Given the description of an element on the screen output the (x, y) to click on. 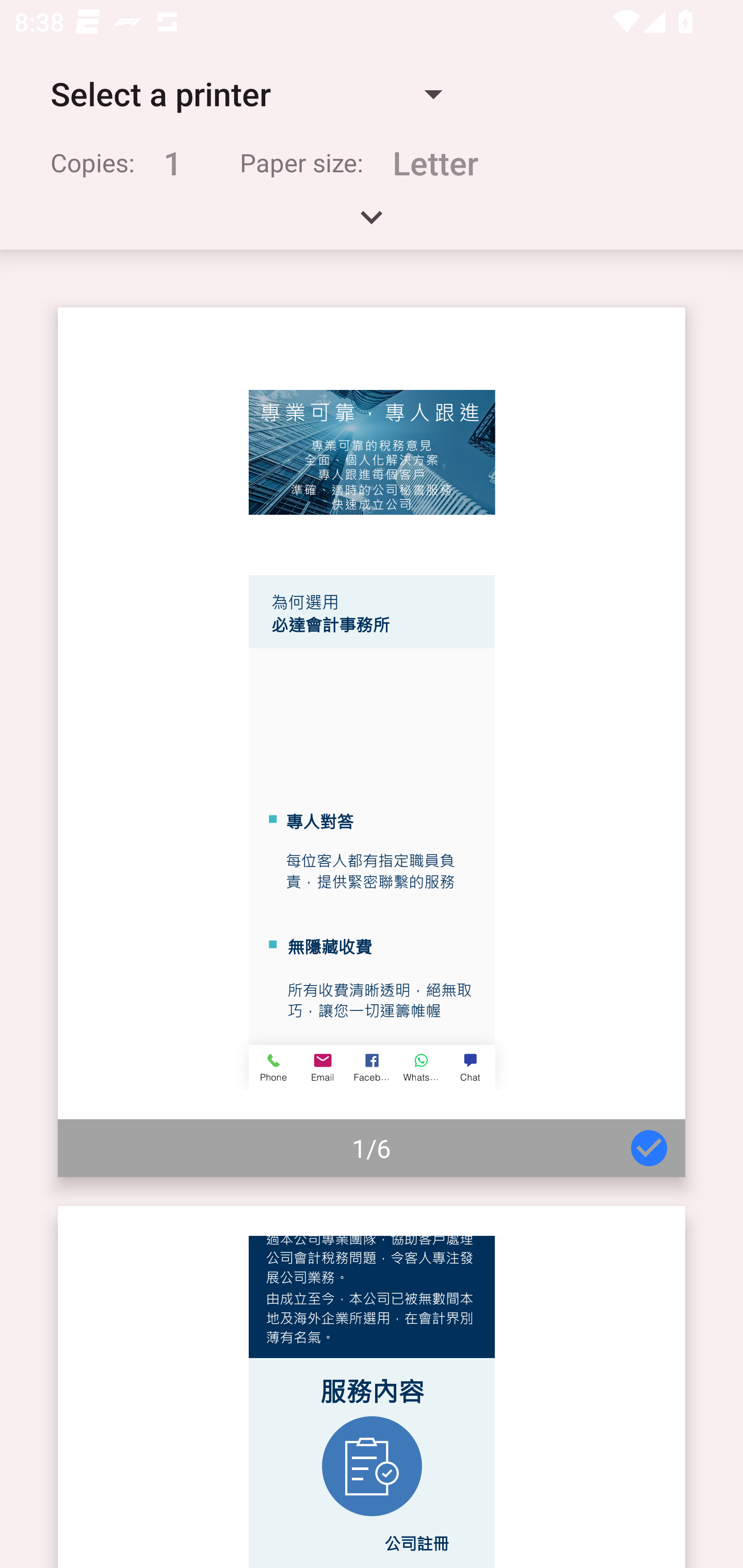
Select a printer (245, 93)
Expand handle (371, 224)
Page 1 of 6 1/6 (371, 742)
Page 3 of 6 (371, 1386)
